Given the description of an element on the screen output the (x, y) to click on. 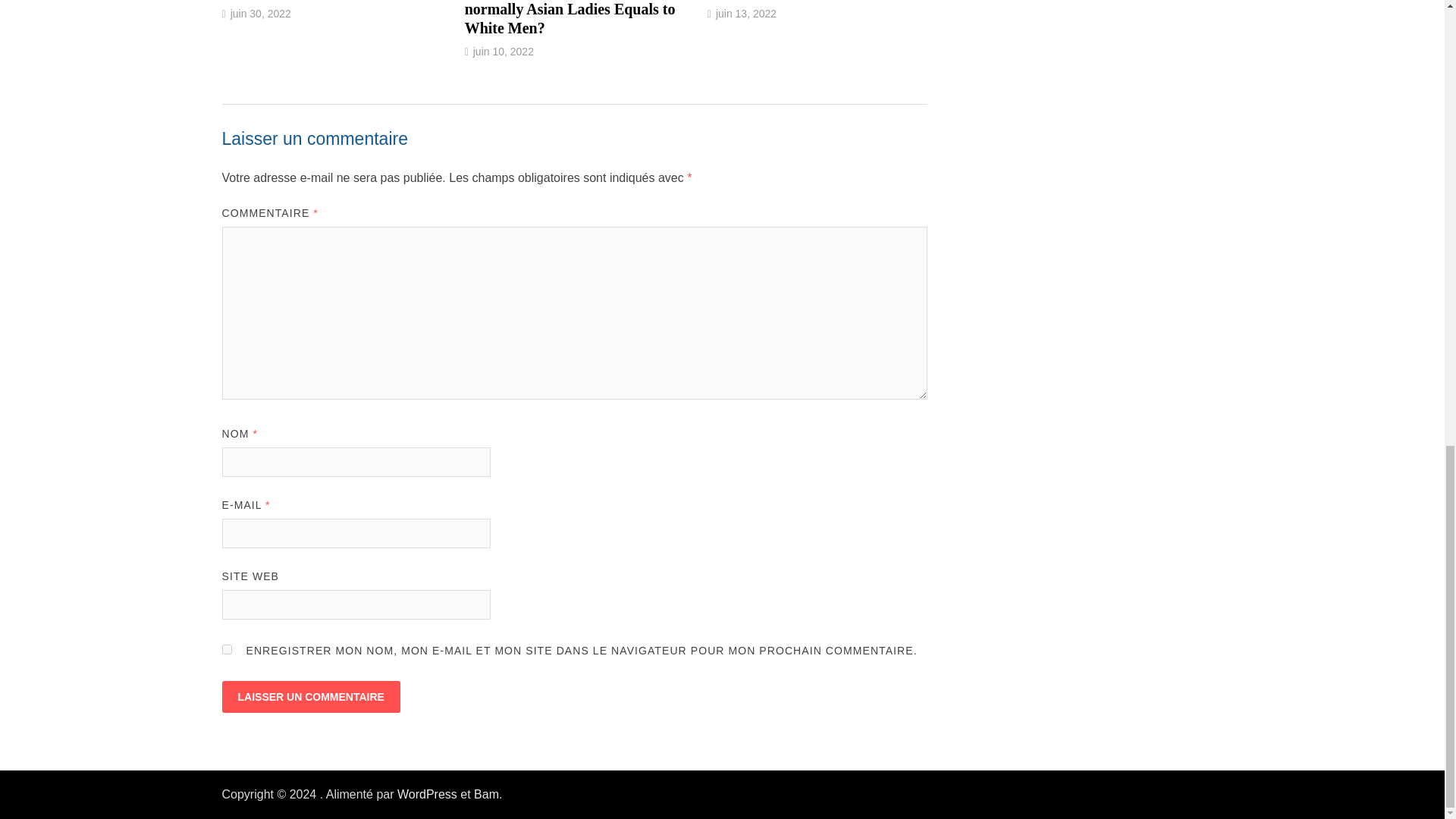
Laisser un commentaire (309, 696)
Laisser un commentaire (309, 696)
yes (226, 649)
juin 10, 2022 (503, 51)
juin 13, 2022 (746, 13)
juin 30, 2022 (260, 13)
